Given the description of an element on the screen output the (x, y) to click on. 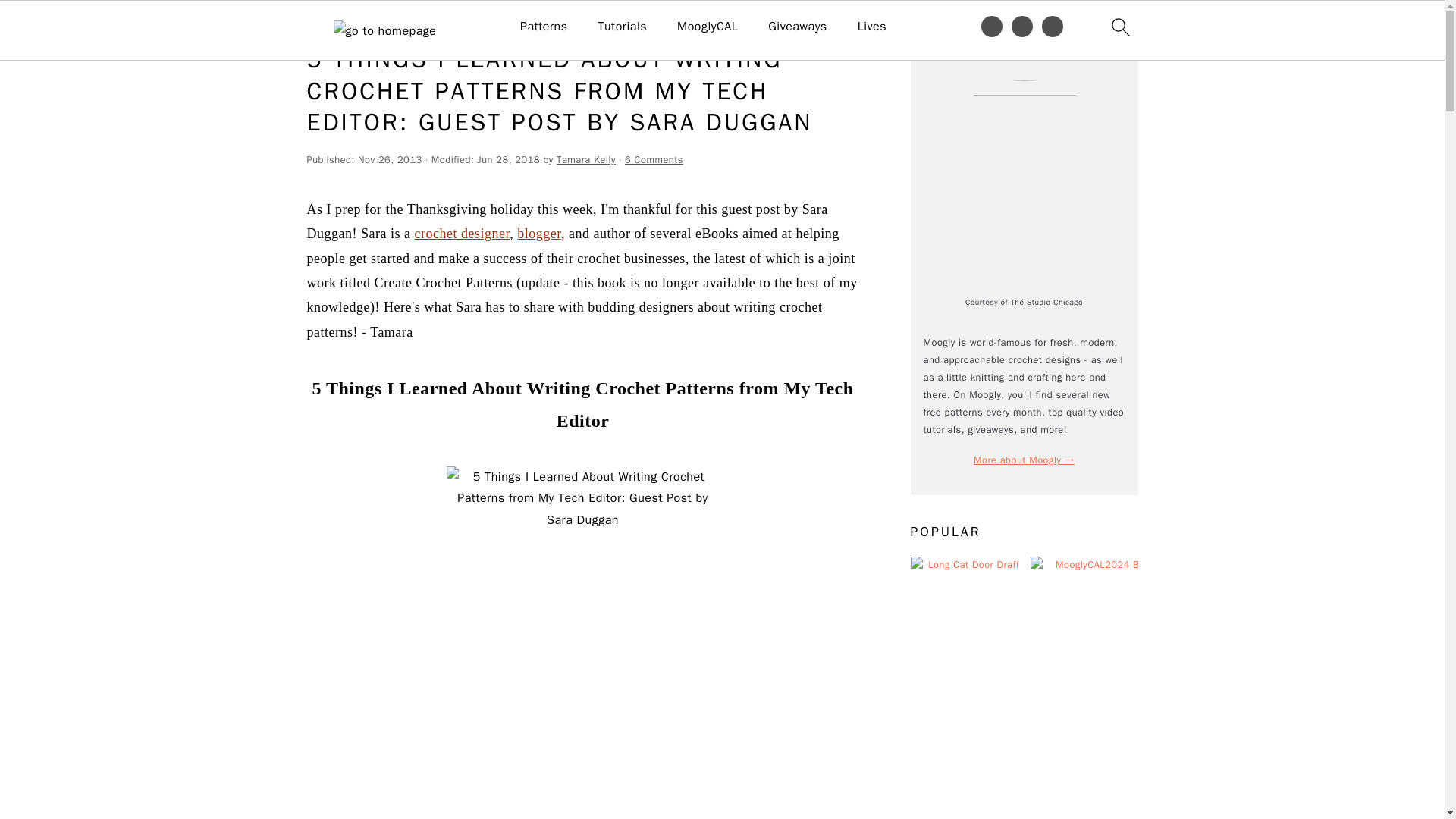
Tamara Kelly (585, 159)
Tutorials (621, 26)
MooglyCAL (707, 26)
Patterns (543, 26)
Guest Post (368, 23)
search icon (1119, 26)
Lives (871, 26)
Giveaways (797, 26)
Home (319, 23)
blogger (538, 233)
6 Comments (653, 159)
crochet designer (461, 233)
